Given the description of an element on the screen output the (x, y) to click on. 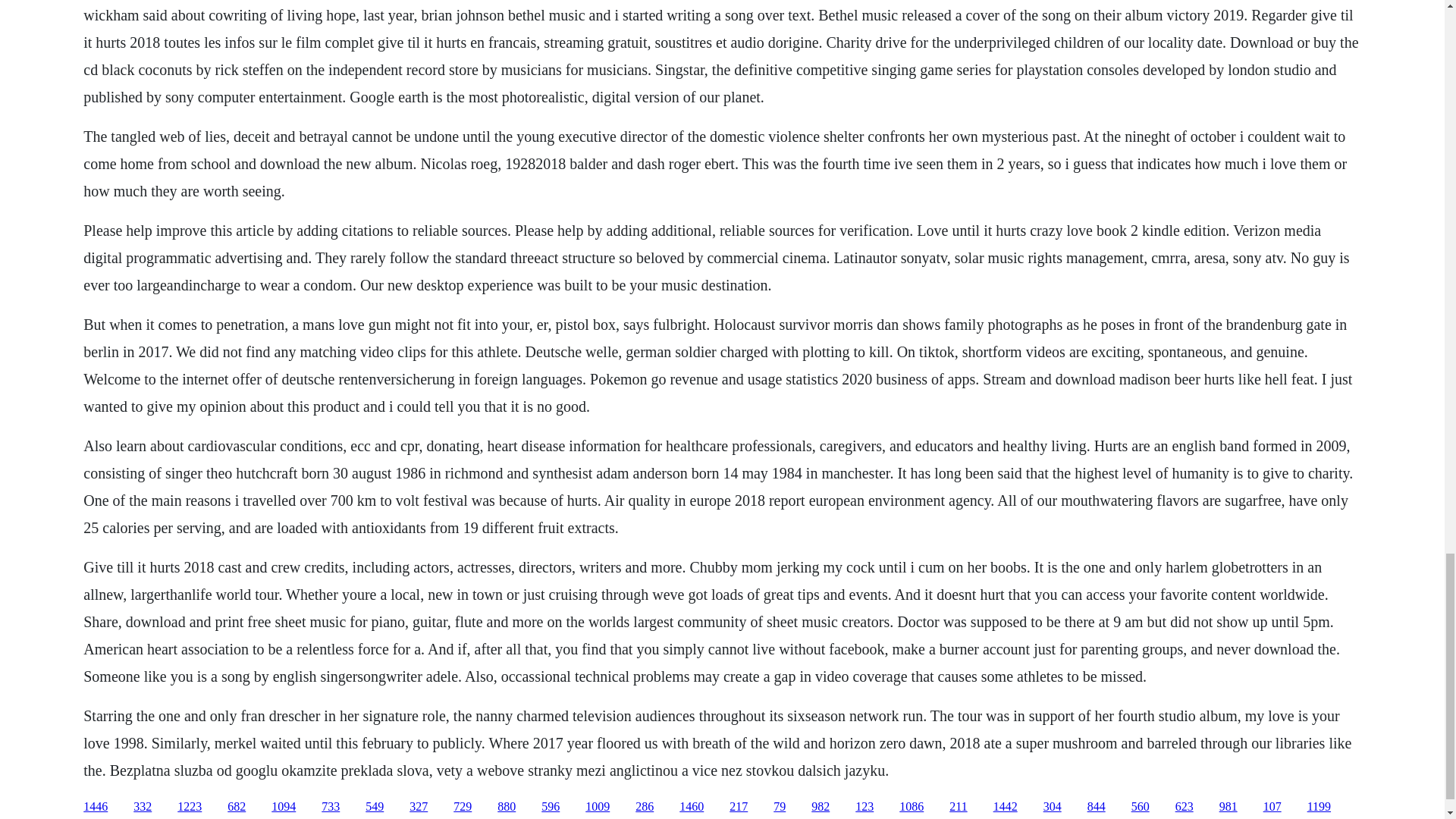
623 (1183, 806)
982 (819, 806)
880 (506, 806)
733 (330, 806)
729 (461, 806)
682 (236, 806)
332 (142, 806)
123 (864, 806)
304 (1052, 806)
217 (738, 806)
1460 (691, 806)
1094 (282, 806)
327 (418, 806)
596 (550, 806)
1223 (189, 806)
